Given the description of an element on the screen output the (x, y) to click on. 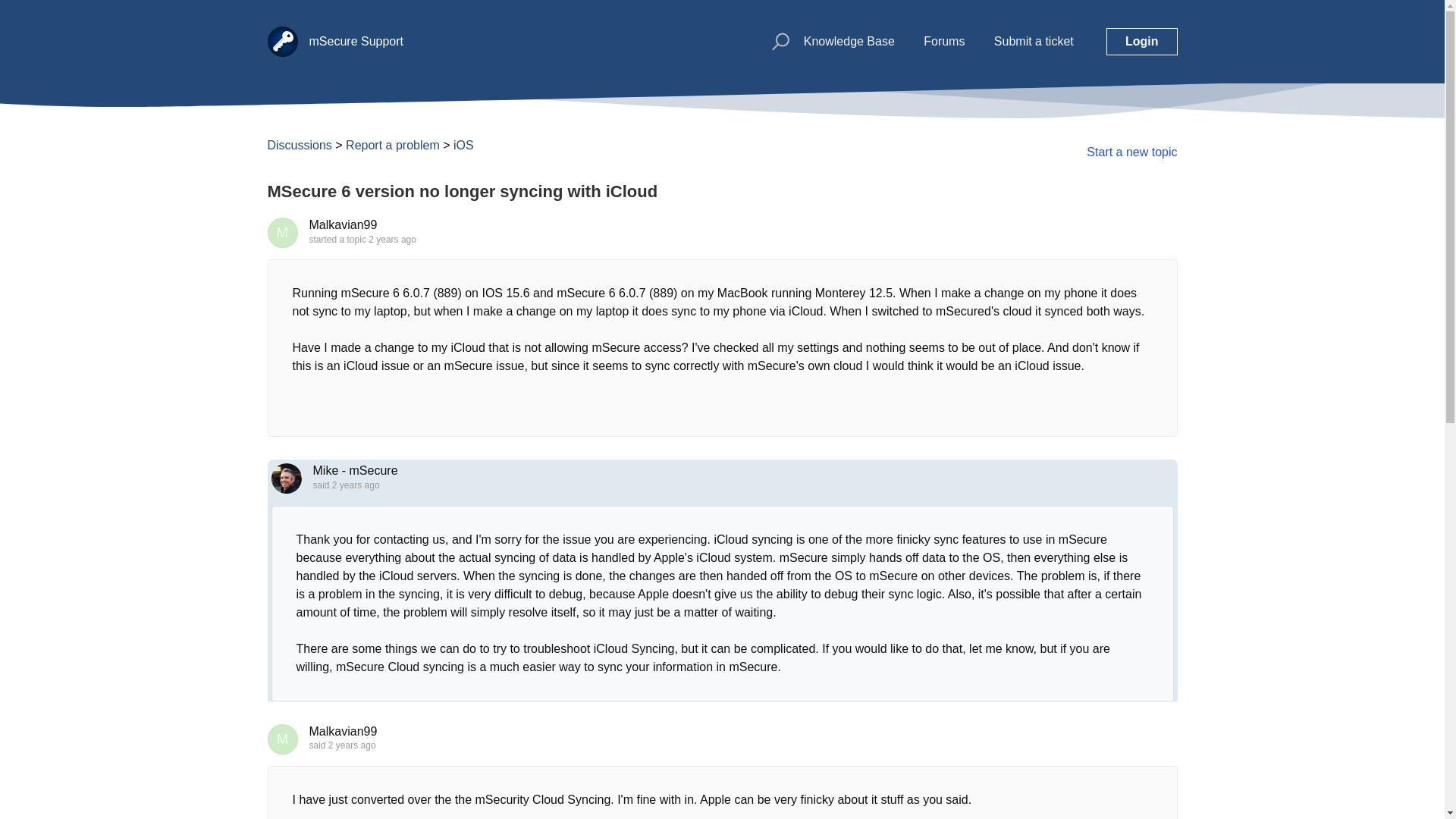
Report a problem (392, 144)
Start a new topic (1131, 151)
Mon, Aug 1, 2022 at  8:49 AM (355, 484)
Forums (943, 41)
iOS (463, 144)
Submit a ticket (1034, 41)
Start a new topic (1131, 151)
Discussions (298, 144)
Login (1141, 41)
Knowledge Base (849, 41)
Mon, Aug 1, 2022 at  3:12 PM (352, 745)
Mon, Jul 25, 2022 at  3:17 PM (392, 239)
